Given the description of an element on the screen output the (x, y) to click on. 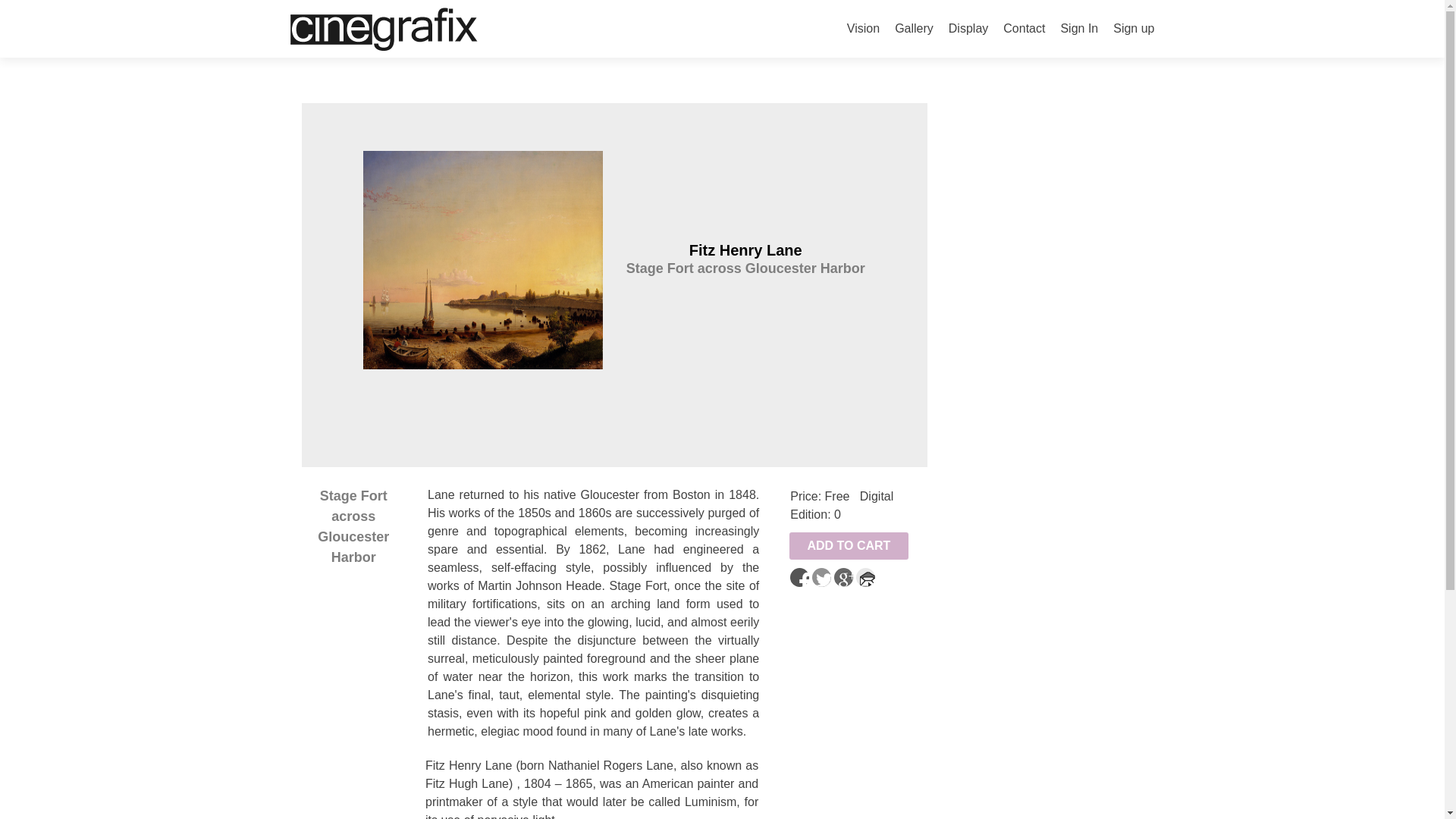
Gallery (914, 28)
ADD TO CART (848, 545)
Sign In (1078, 28)
Vision (863, 28)
Contact (1024, 28)
Email this article (865, 577)
Display (968, 28)
Share to Facebook (799, 577)
Share to Google Plus (843, 577)
Share to Twitter (821, 577)
Sign up (1133, 28)
